Given the description of an element on the screen output the (x, y) to click on. 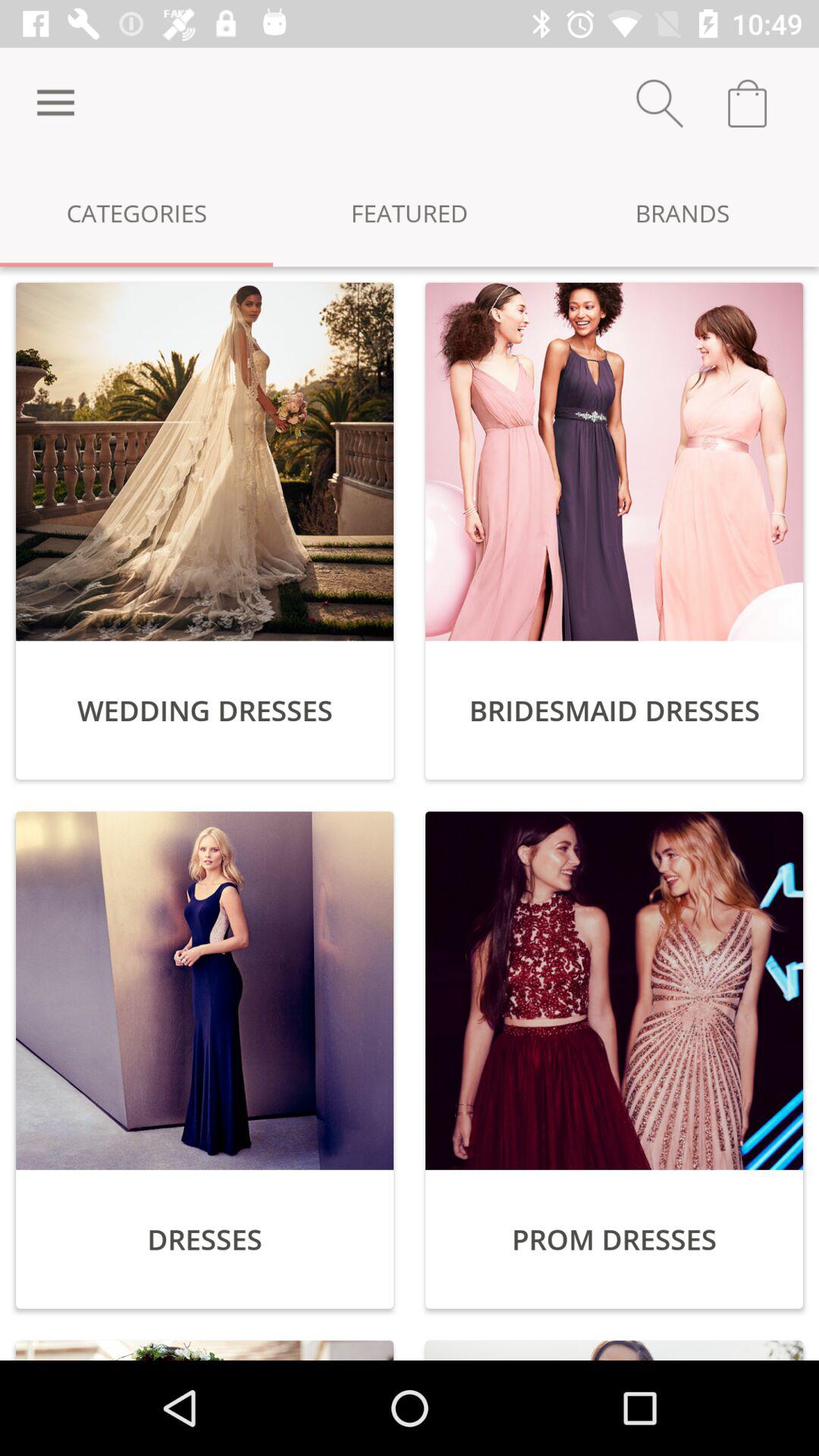
select the icon next to the featured icon (682, 212)
